Given the description of an element on the screen output the (x, y) to click on. 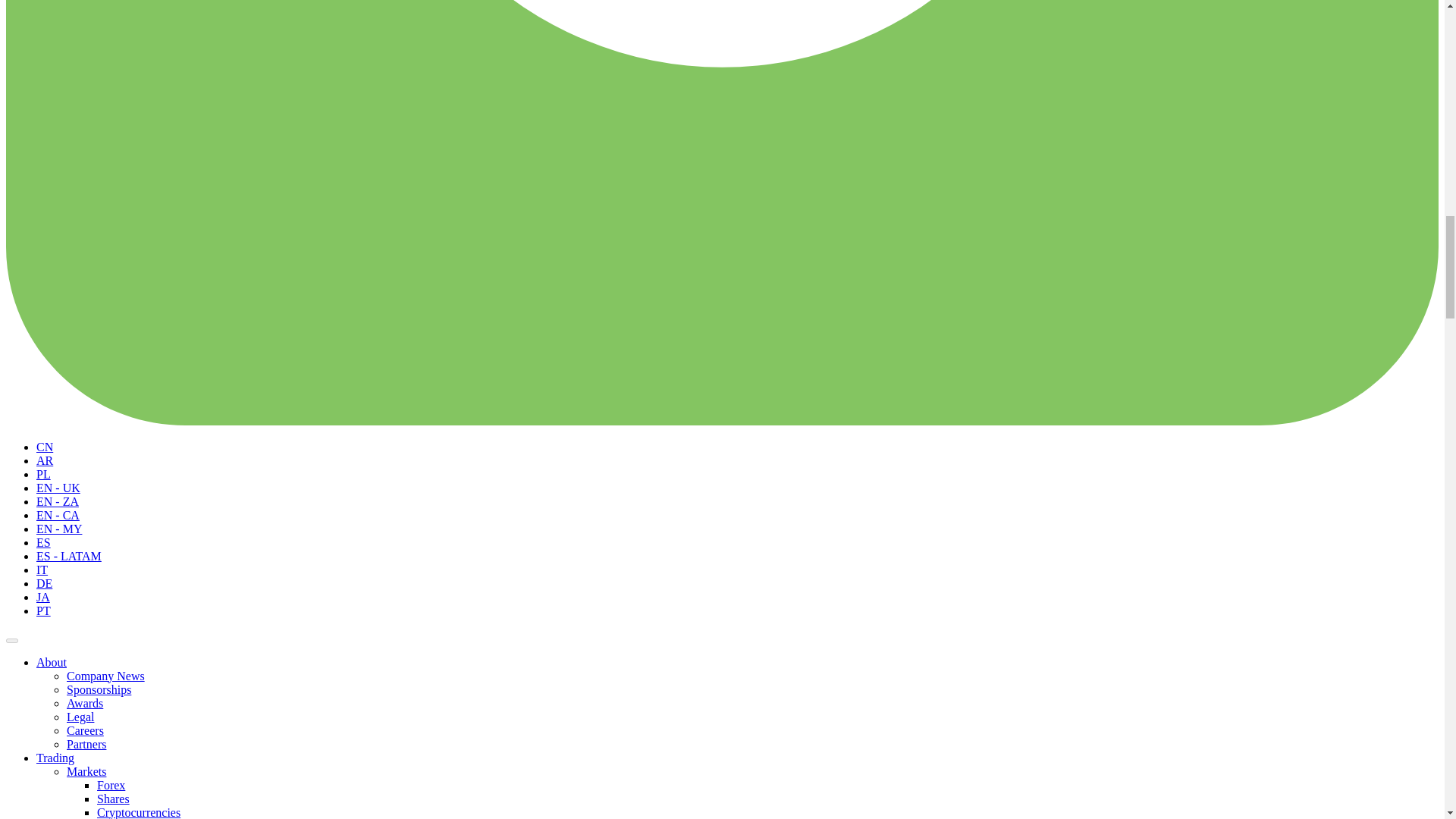
Awards (84, 702)
ES - LATAM (68, 554)
EN - CA (58, 513)
PL (43, 472)
EN - MY (58, 527)
AR (44, 459)
PT (43, 609)
ES (43, 541)
Company News (105, 675)
About (51, 661)
CN (44, 445)
JA (42, 595)
EN - ZA (57, 500)
DE (44, 582)
Sponsorships (98, 688)
